Given the description of an element on the screen output the (x, y) to click on. 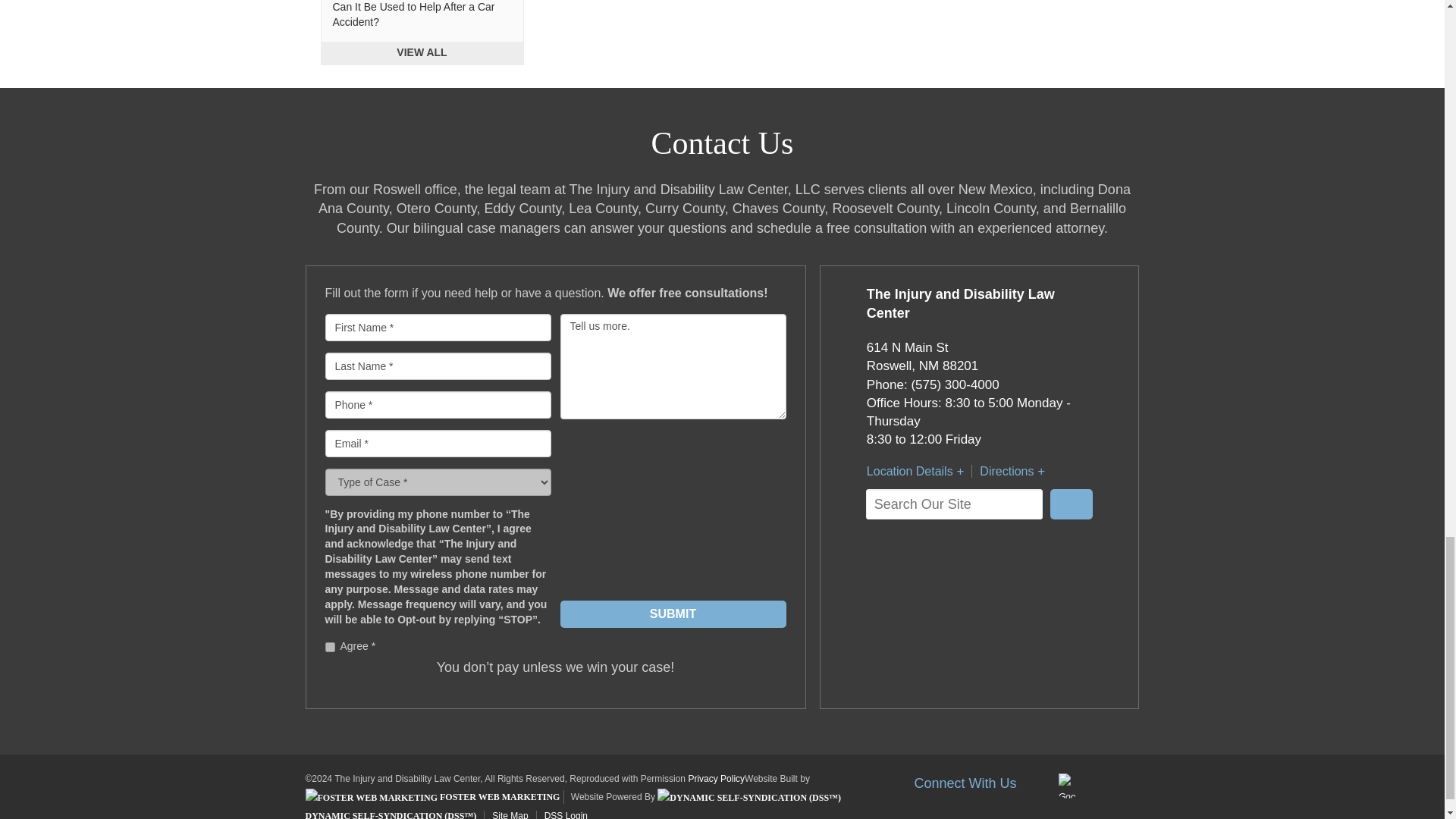
Agree (329, 646)
VIEW ALL (421, 52)
Search (1071, 503)
